Given the description of an element on the screen output the (x, y) to click on. 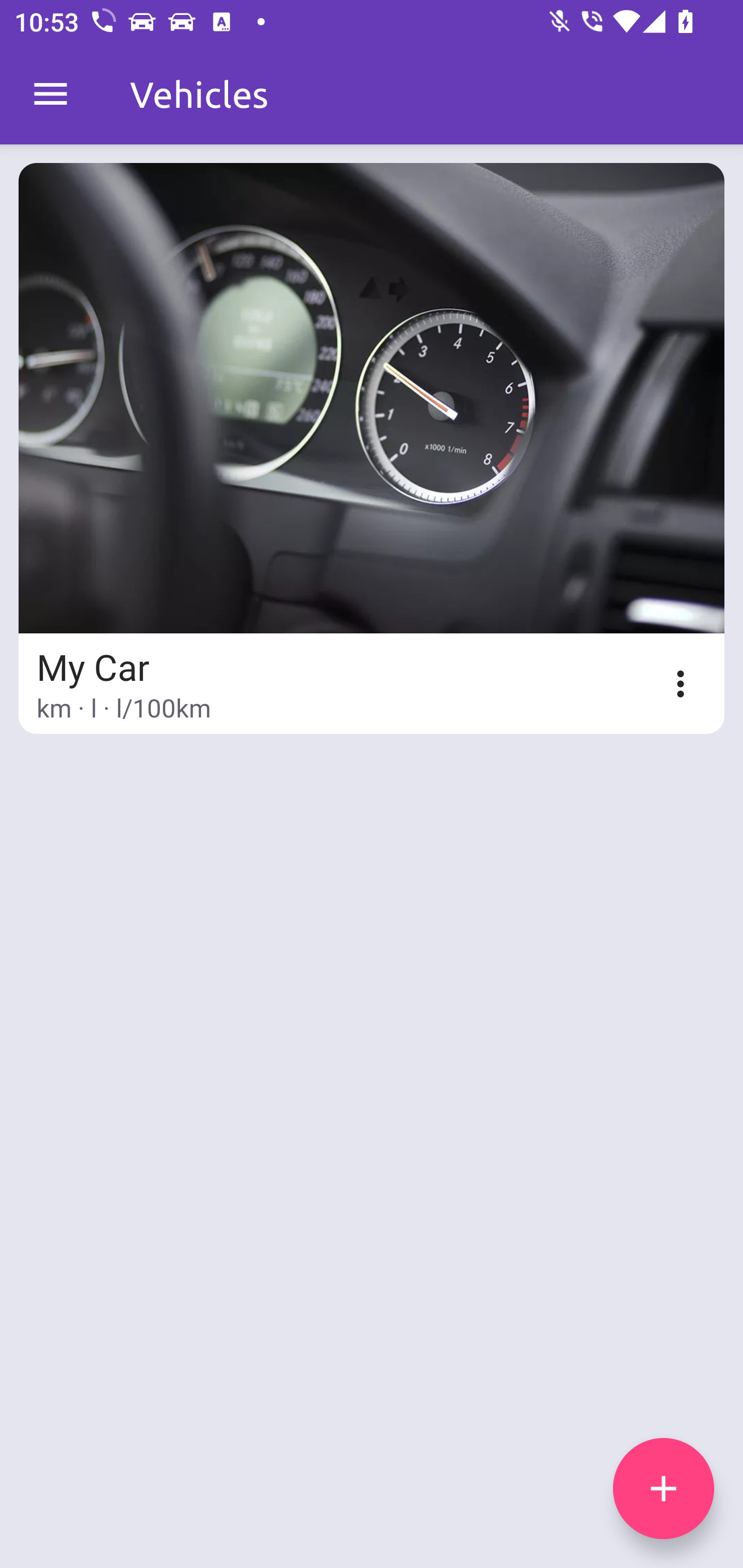
MenuDrawer (50, 93)
My Car km · l · l/100km (371, 448)
add icon (663, 1488)
